Given the description of an element on the screen output the (x, y) to click on. 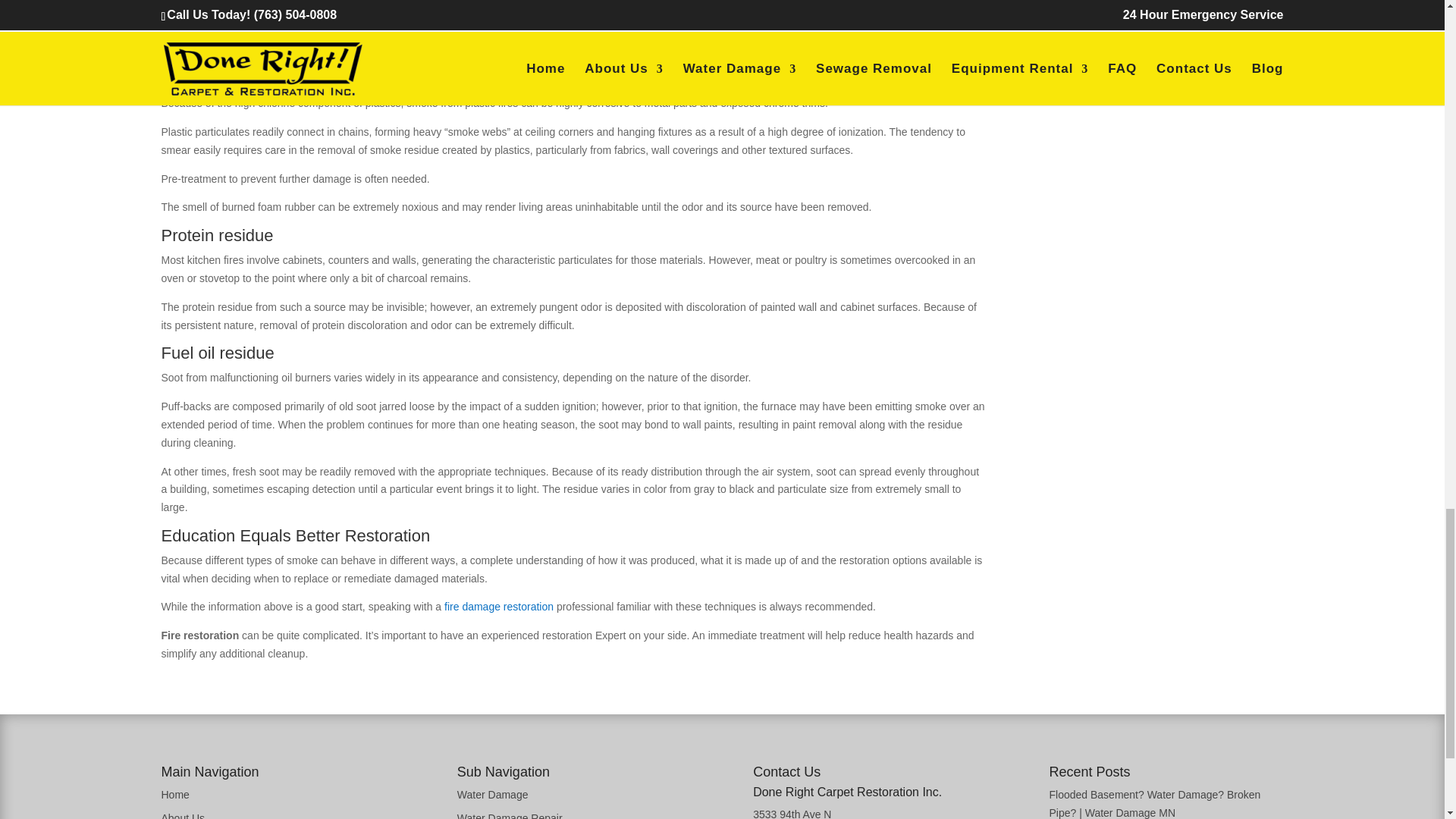
Fire Damage Restoration (498, 606)
